Given the description of an element on the screen output the (x, y) to click on. 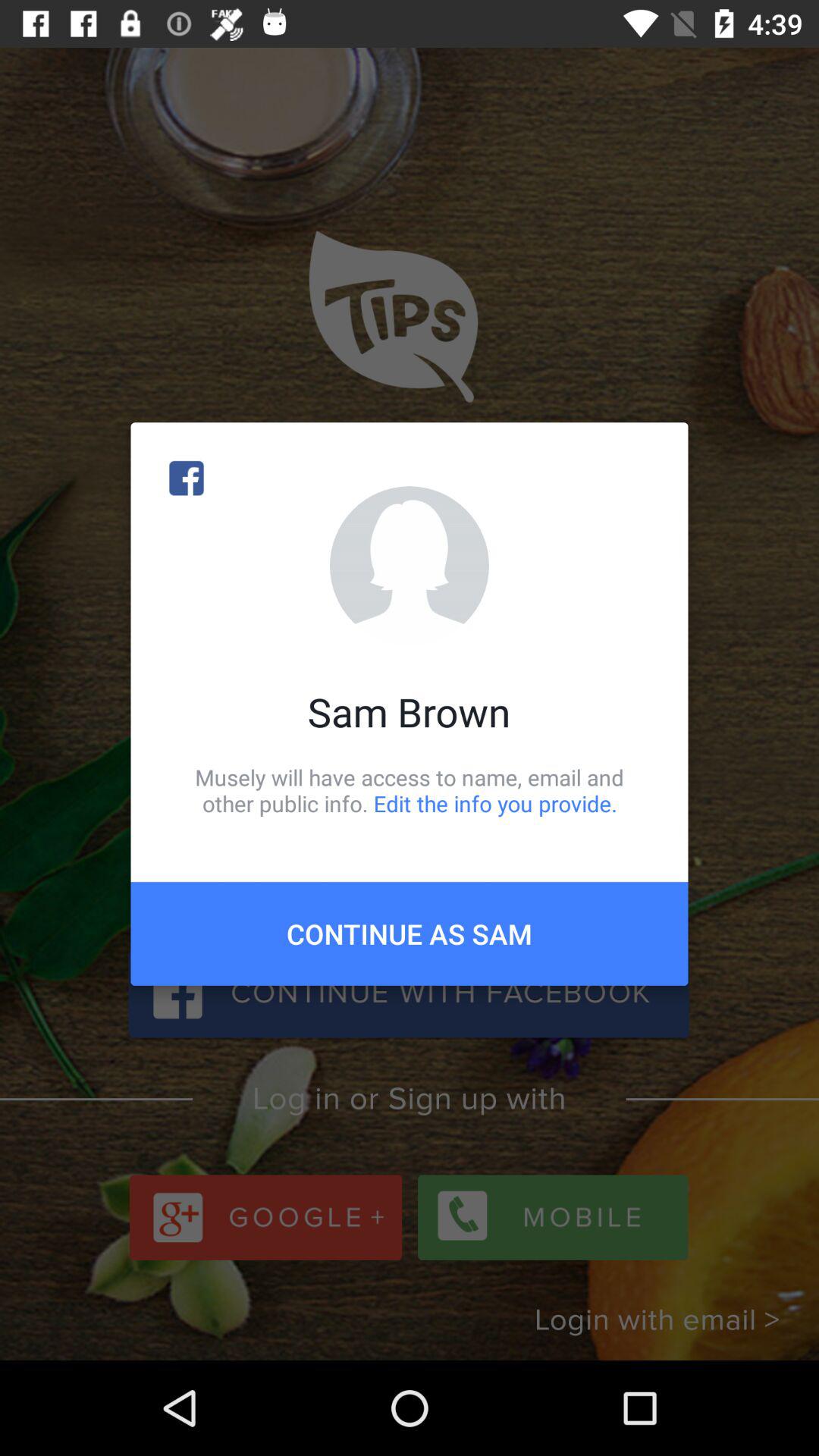
scroll until musely will have item (409, 790)
